Given the description of an element on the screen output the (x, y) to click on. 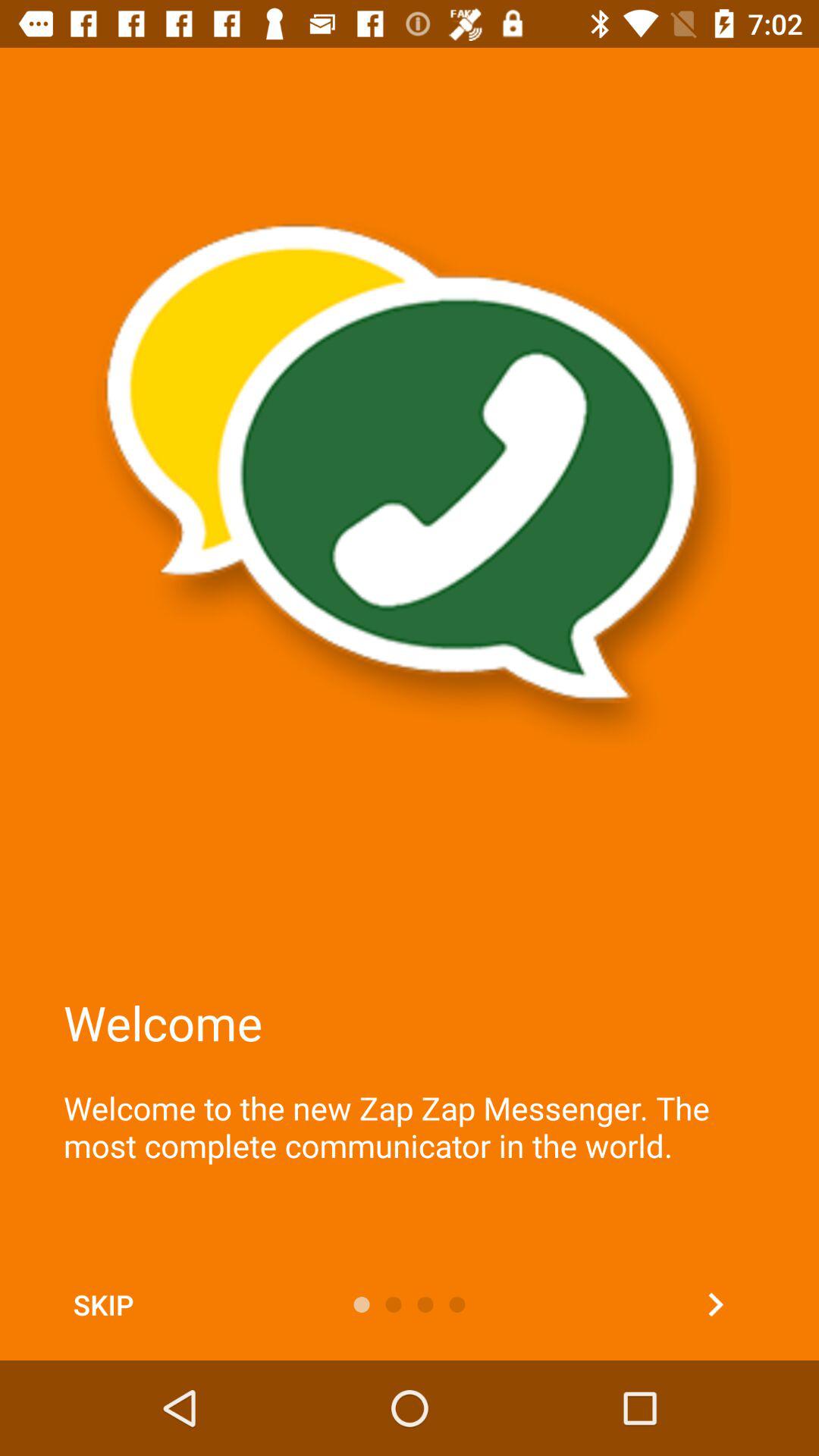
advance to the next slide (715, 1304)
